Given the description of an element on the screen output the (x, y) to click on. 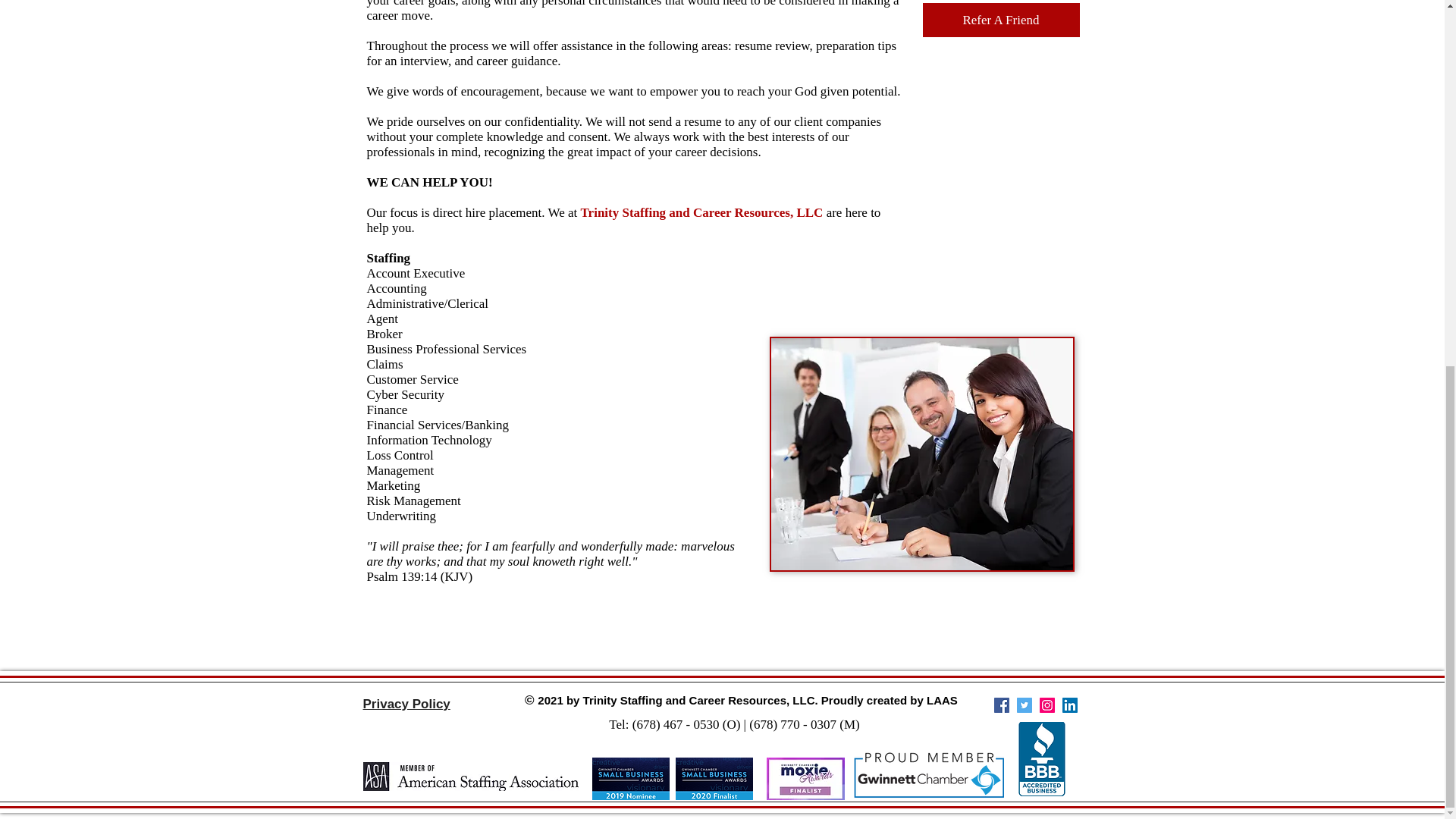
Refer A Friend (999, 19)
Privacy Policy (405, 703)
LAAS (942, 699)
